Given the description of an element on the screen output the (x, y) to click on. 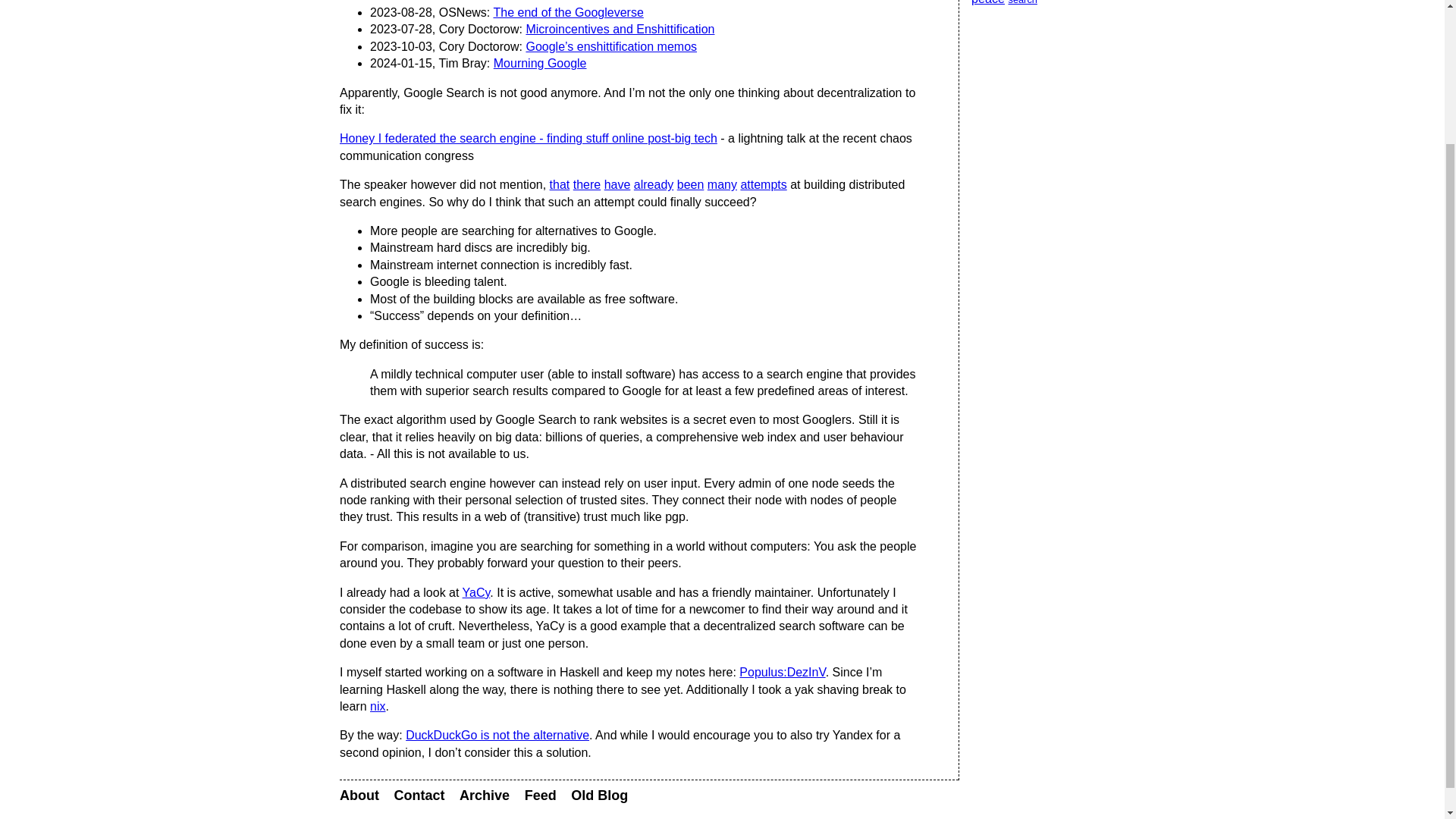
many (721, 184)
Old Blog (598, 795)
nix (377, 706)
Feed (540, 795)
Microincentives and Enshittification (619, 29)
YaCy (476, 592)
About (358, 795)
DuckDuckGo is not the alternative (497, 735)
Mourning Google (539, 62)
Contact (419, 795)
